Given the description of an element on the screen output the (x, y) to click on. 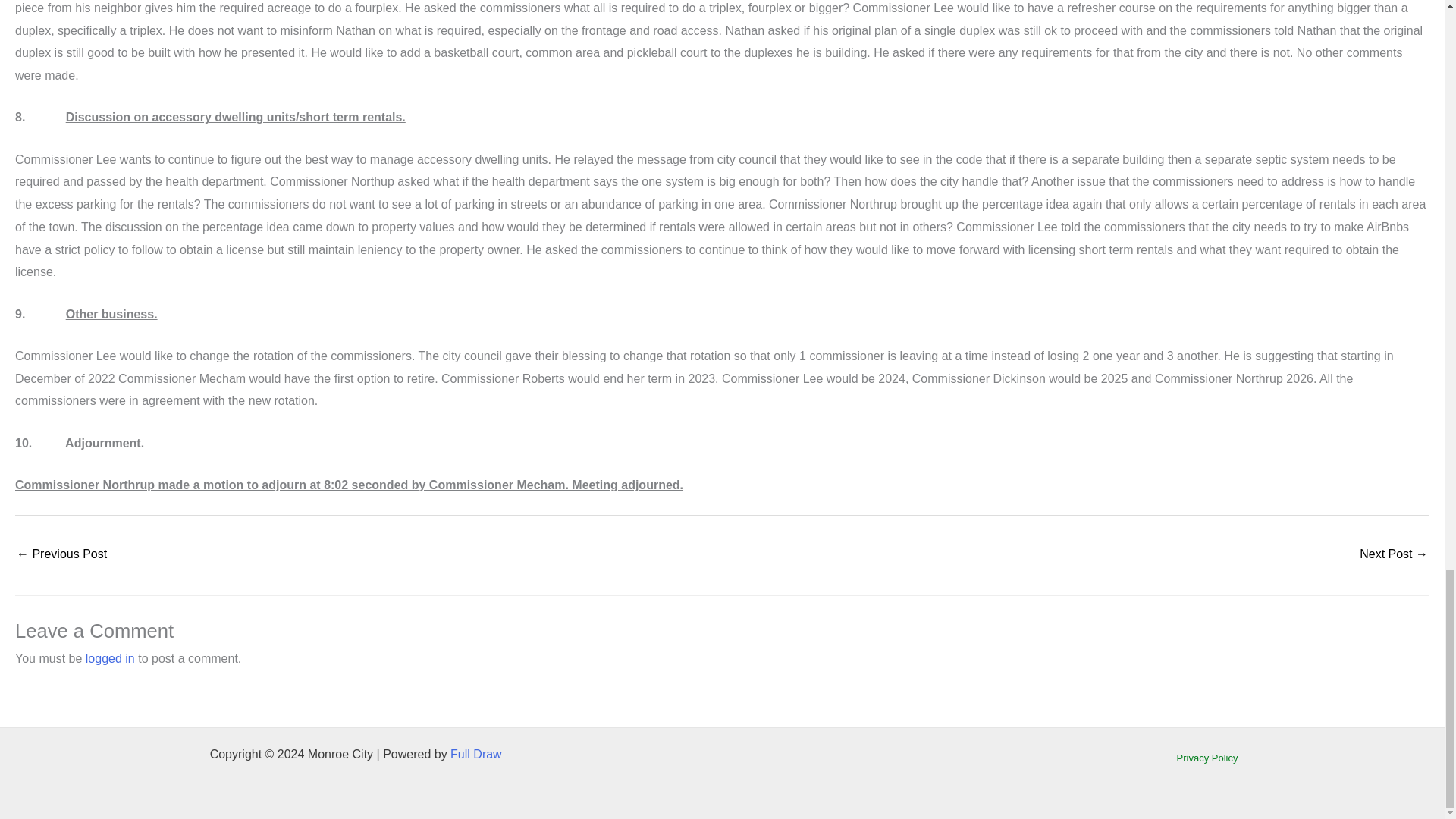
Healthy Community Resources (1393, 555)
